Given the description of an element on the screen output the (x, y) to click on. 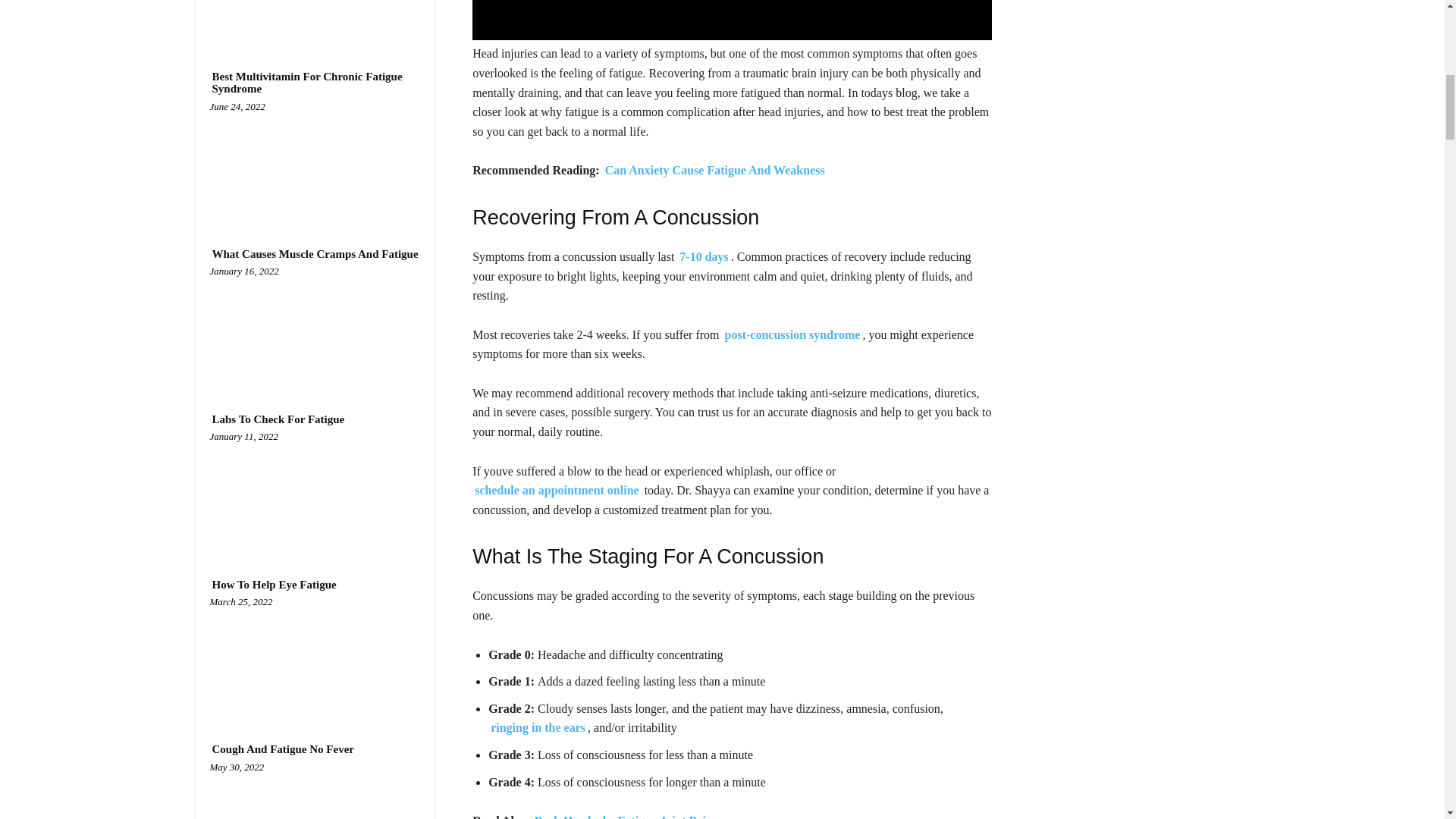
Labs To Check For Fatigue (314, 492)
Best Multivitamin For Chronic Fatigue Syndrome (314, 82)
What Causes Muscle Cramps And Fatigue (314, 254)
Best Multivitamin For Chronic Fatigue Syndrome (314, 162)
What Causes Muscle Cramps And Fatigue (314, 327)
Can Rheumatoid Arthritis Cause Fatigue (314, 18)
